Given the description of an element on the screen output the (x, y) to click on. 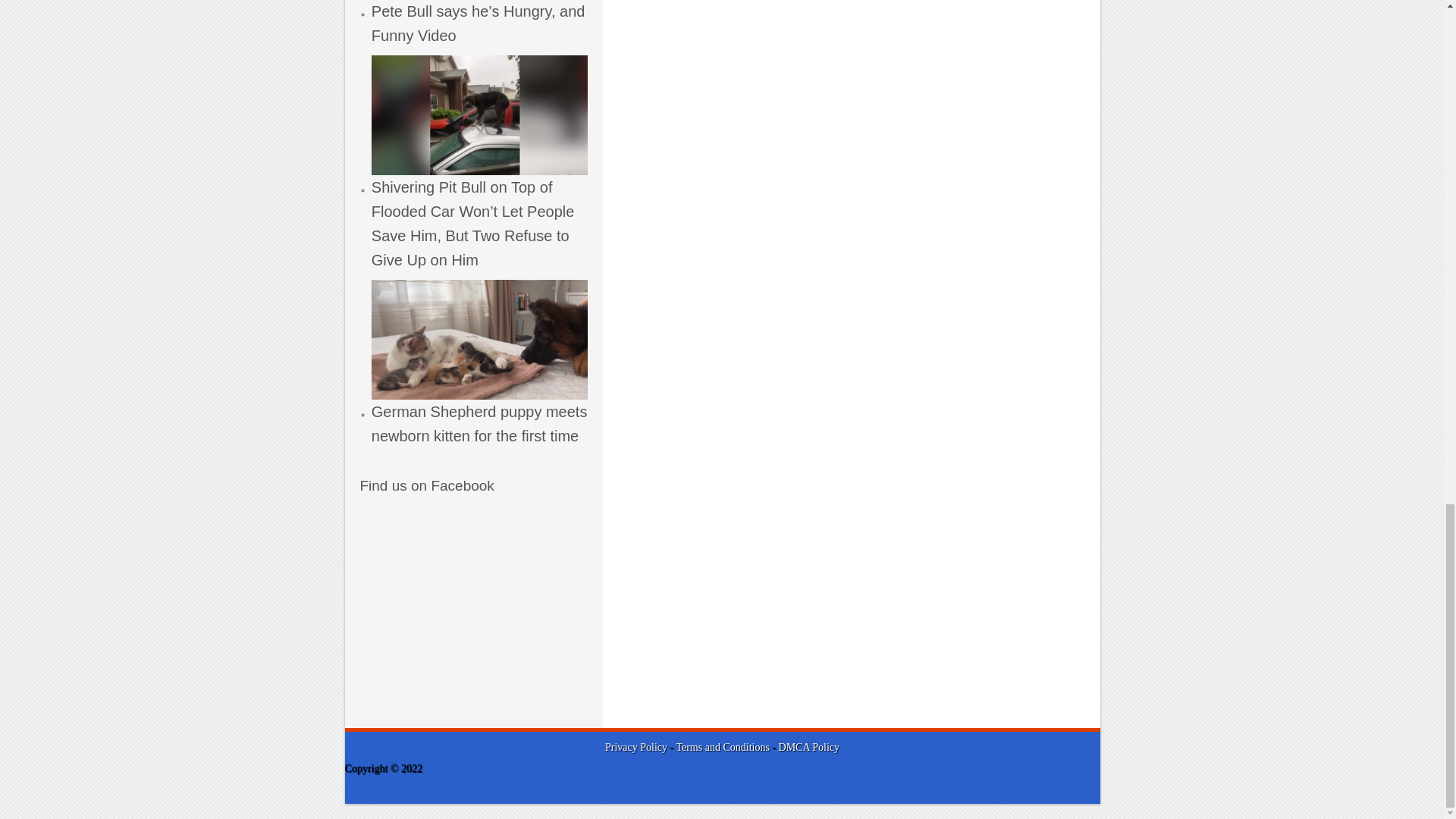
DMCA Policy (809, 747)
Privacy Policy (635, 747)
Terms and Conditions (723, 747)
